Given the description of an element on the screen output the (x, y) to click on. 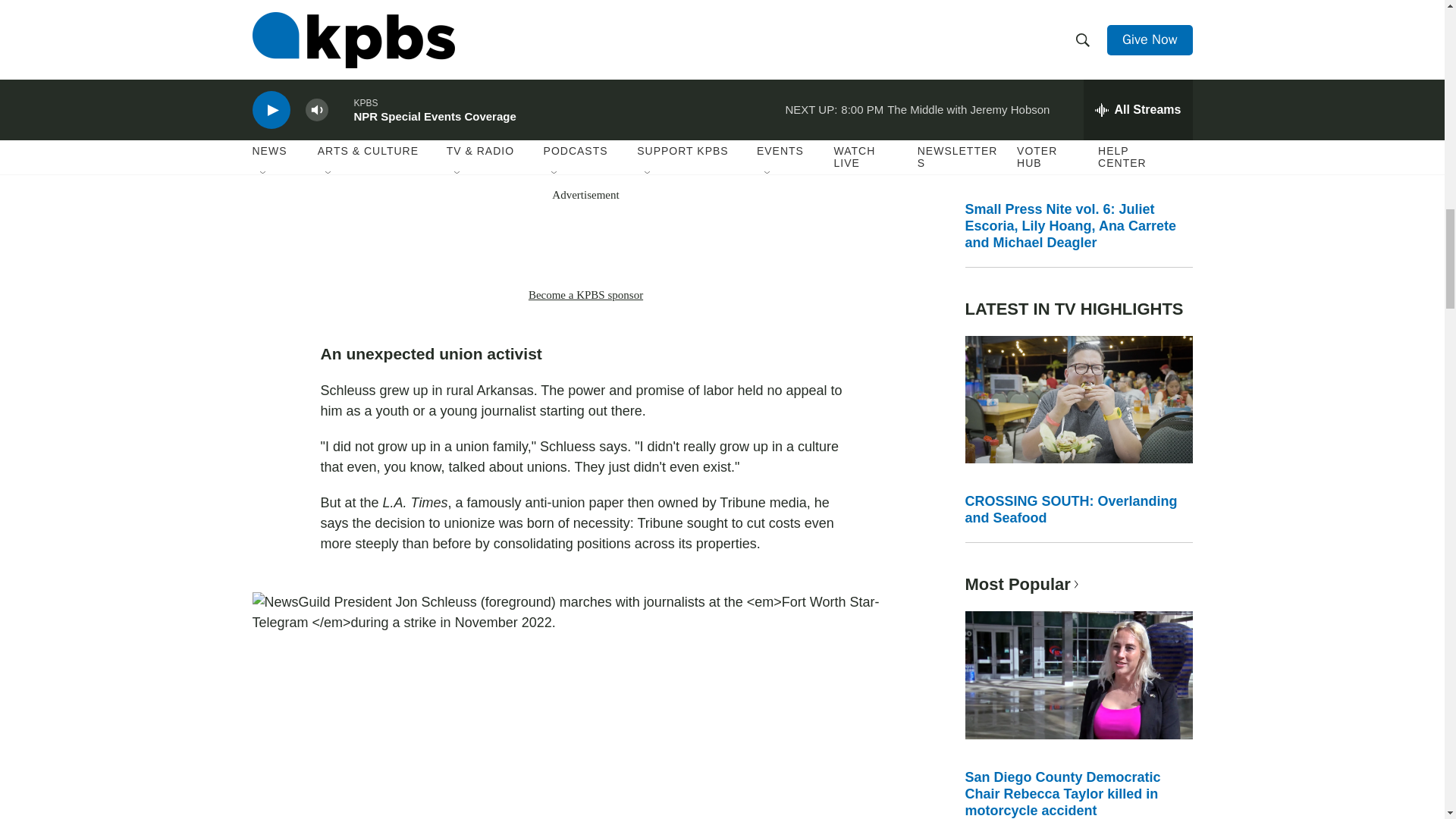
3rd party ad content (584, 244)
